Given the description of an element on the screen output the (x, y) to click on. 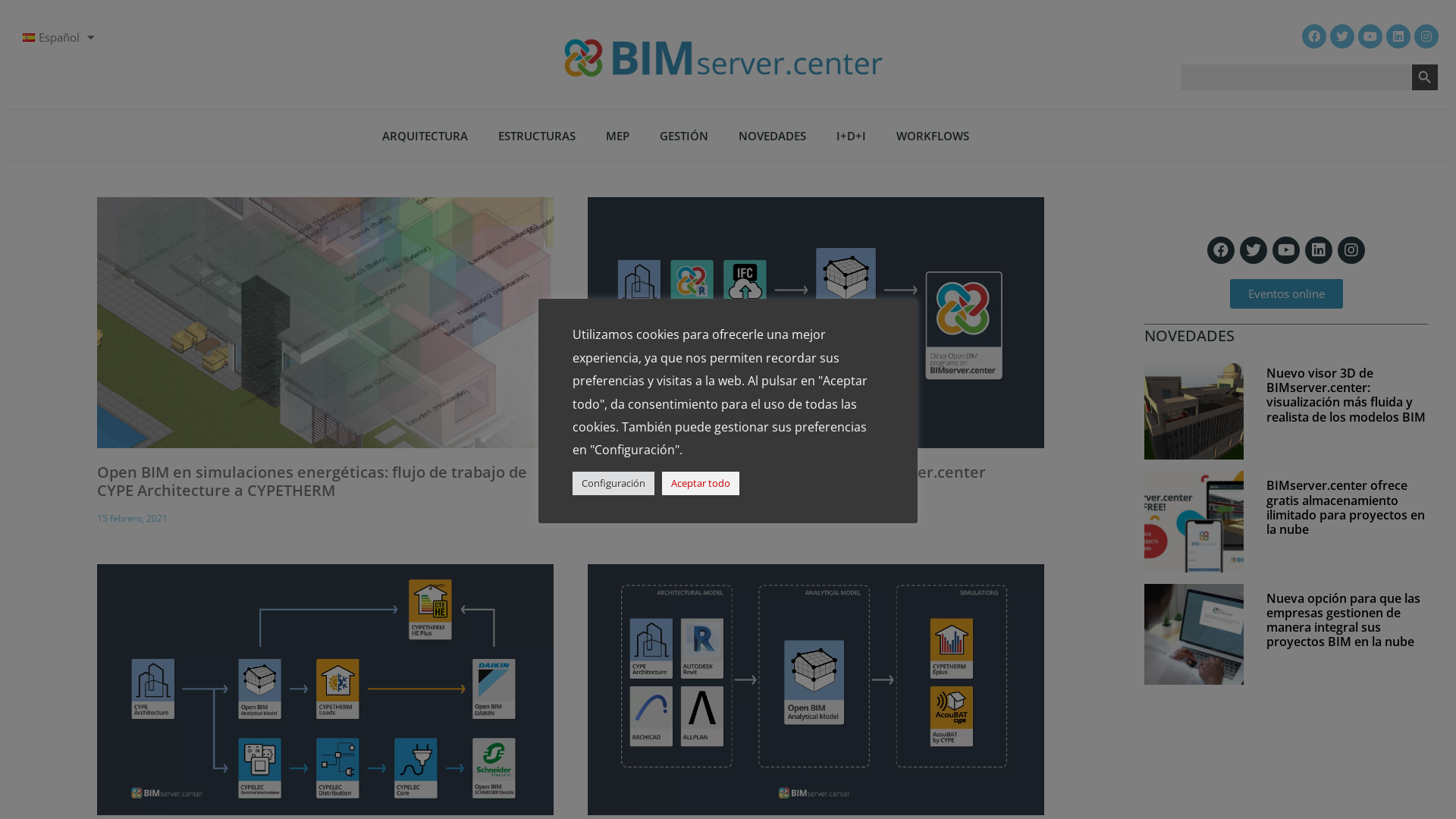
ARQUITECTURA Element type: text (425, 135)
NOVEDADES Element type: text (772, 135)
I+D+I Element type: text (851, 135)
6 maneras de iniciar un proyecto en BIMserver.center Element type: text (786, 471)
Aceptar todo Element type: text (700, 483)
MEP Element type: text (617, 135)
ESTRUCTURAS Element type: text (536, 135)
Eventos online Element type: text (1286, 293)
Search Button Element type: text (1424, 77)
WORKFLOWS Element type: text (932, 135)
